Given the description of an element on the screen output the (x, y) to click on. 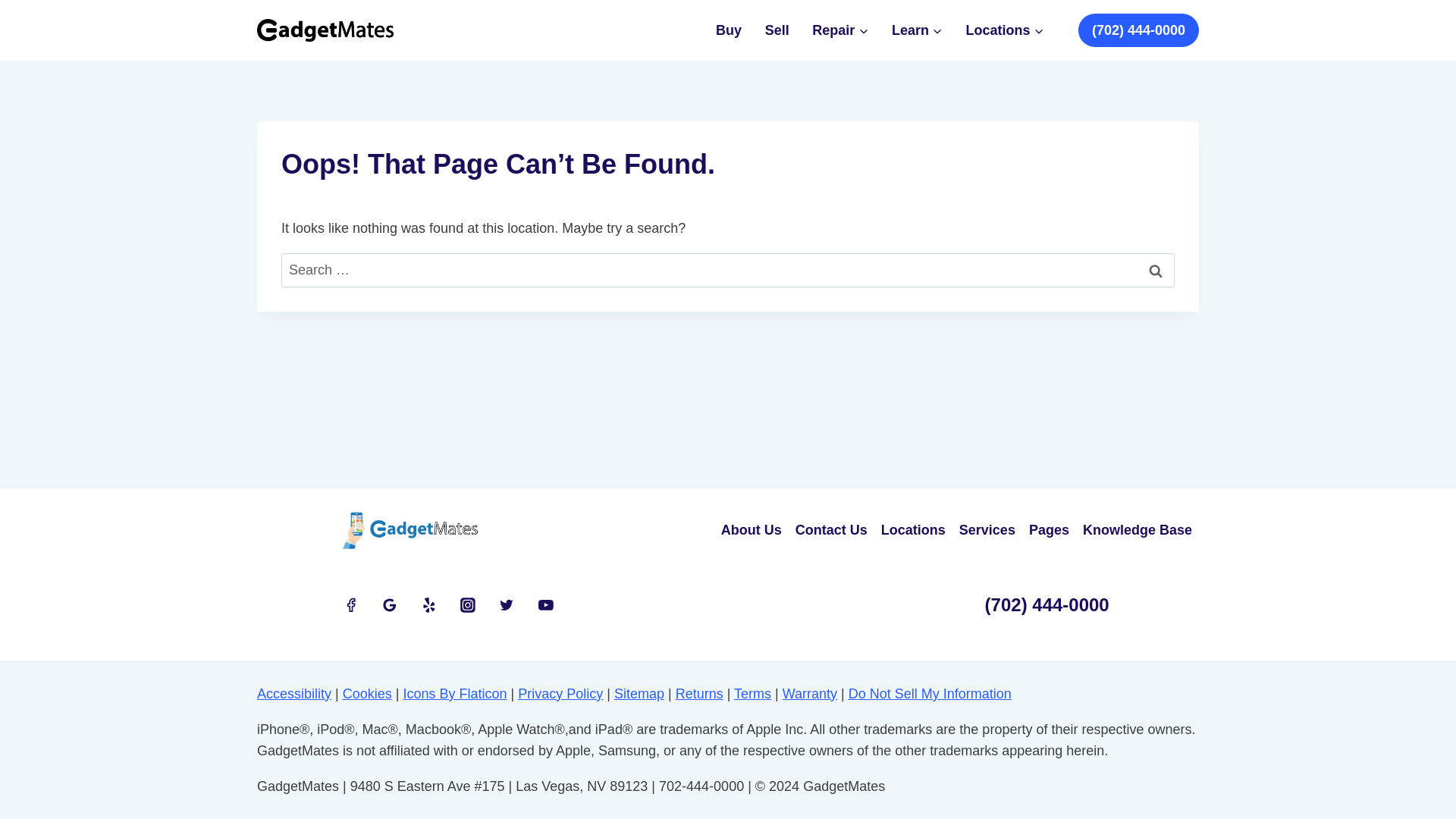
Search (1155, 270)
Search (1155, 270)
Contact Us (832, 529)
Locations (1004, 30)
About Us (751, 529)
Repair (840, 30)
Sell (776, 30)
Buy (729, 30)
Search (1155, 270)
Learn (917, 30)
Pages (1048, 529)
GadgetMates Footer Logo (410, 529)
Services (987, 529)
Locations (913, 529)
Knowledge Base (1136, 529)
